Given the description of an element on the screen output the (x, y) to click on. 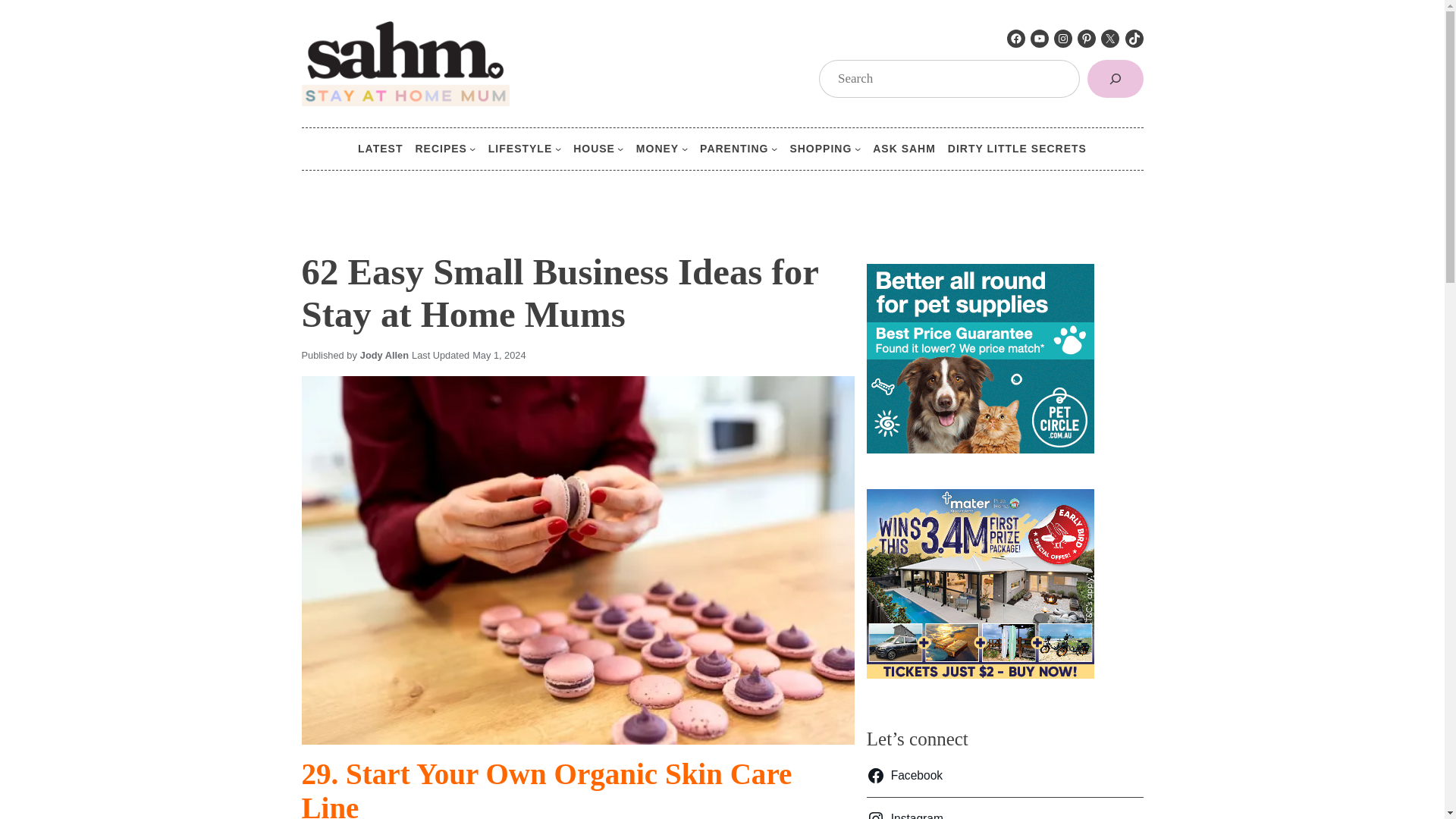
HOUSE (593, 148)
MONEY (657, 148)
RECIPES (439, 148)
TikTok (1133, 38)
LATEST (380, 148)
X (1109, 38)
YouTube (1039, 38)
Facebook (1016, 38)
Instagram (1062, 38)
LIFESTYLE (519, 148)
